Given the description of an element on the screen output the (x, y) to click on. 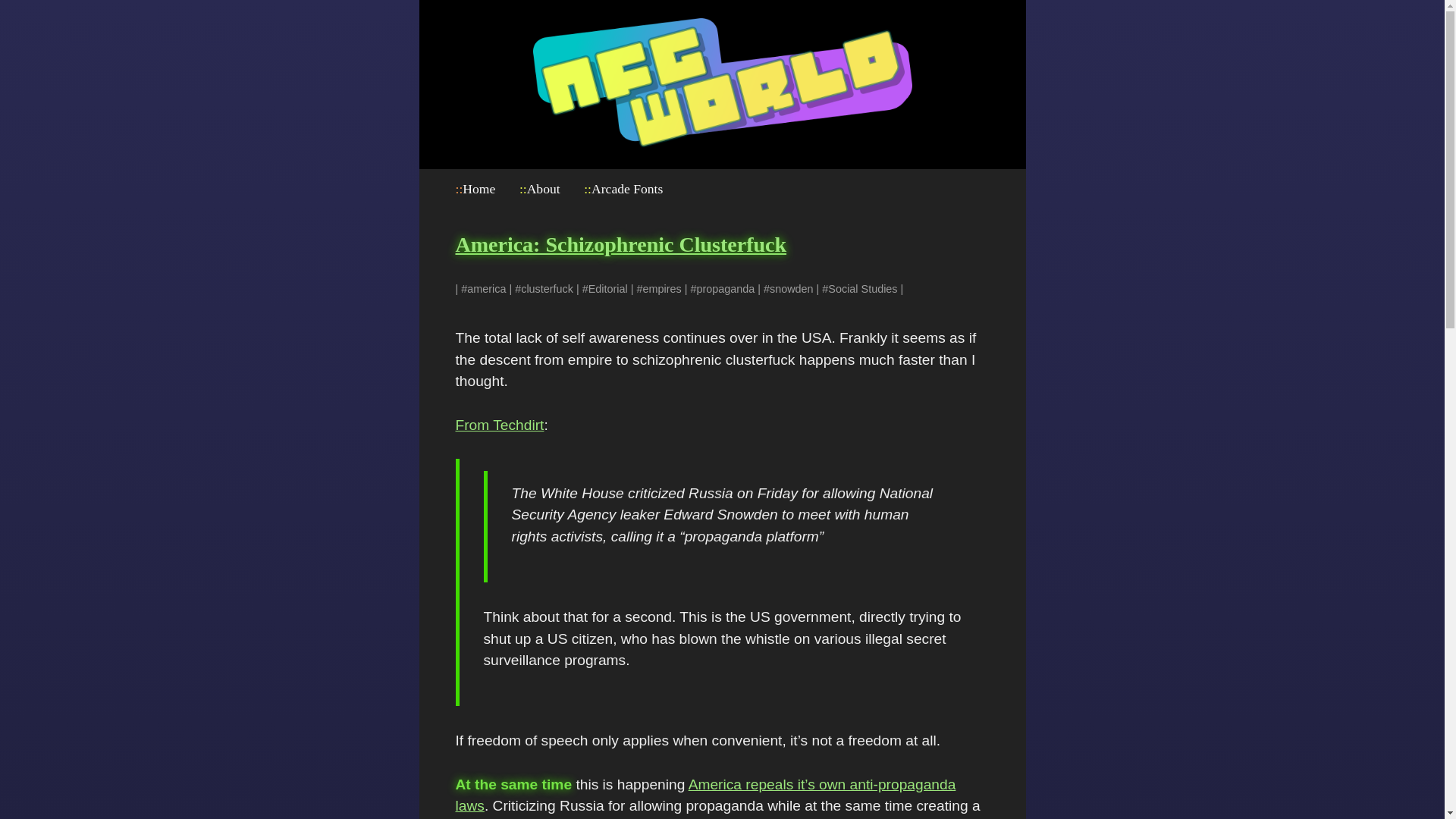
From Techdirt (498, 424)
Social Studies (862, 288)
Editorial (607, 288)
::Arcade Fonts (622, 188)
snowden (791, 288)
america (486, 288)
America: Schizophrenic Clusterfuck (620, 244)
propaganda (724, 288)
clusterfuck (547, 288)
::Home (474, 188)
::About (539, 188)
empires (661, 288)
America: Schizophrenic Clusterfuck (620, 244)
